Given the description of an element on the screen output the (x, y) to click on. 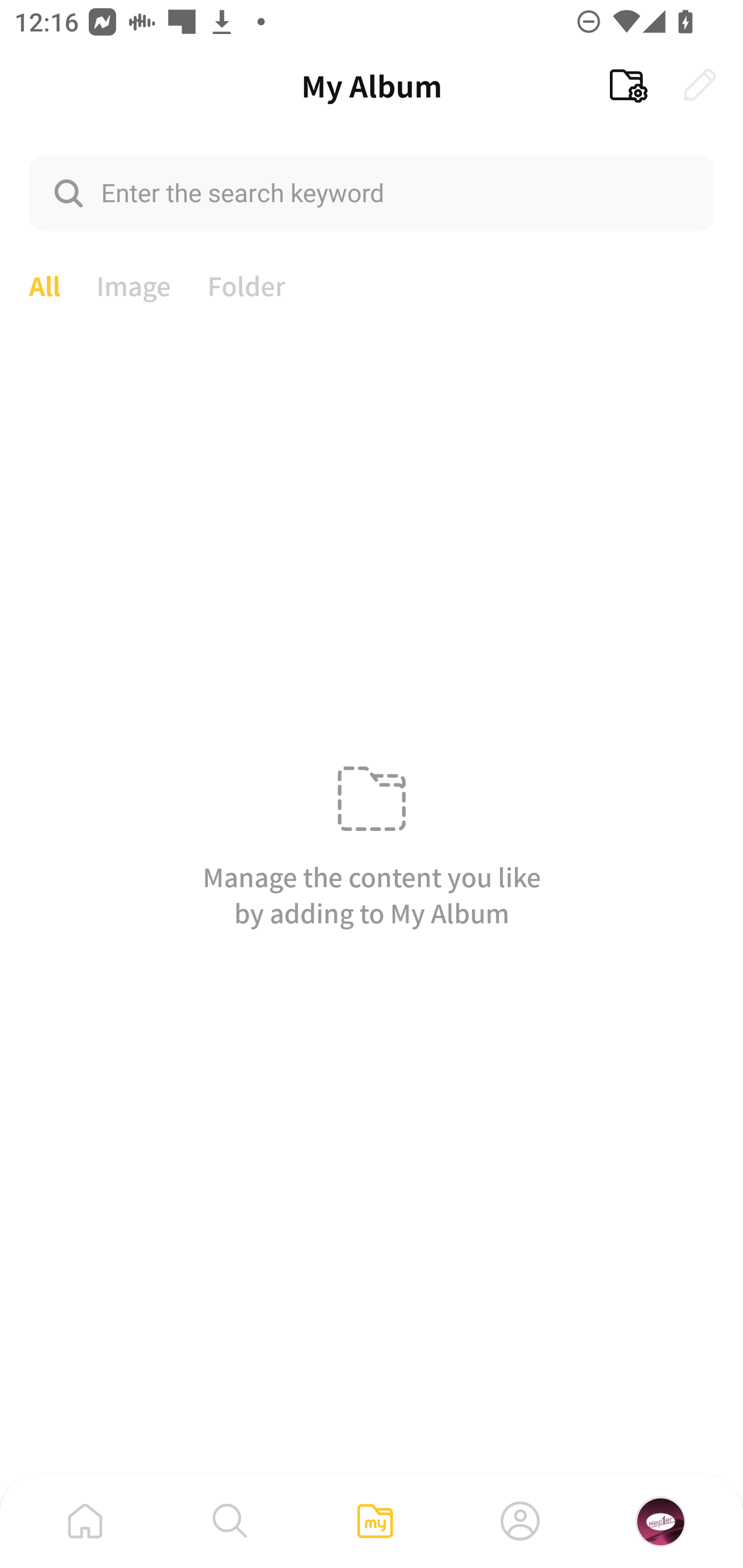
Enter the search keyword (371, 192)
All (44, 284)
Image (133, 284)
Folder (246, 284)
